Given the description of an element on the screen output the (x, y) to click on. 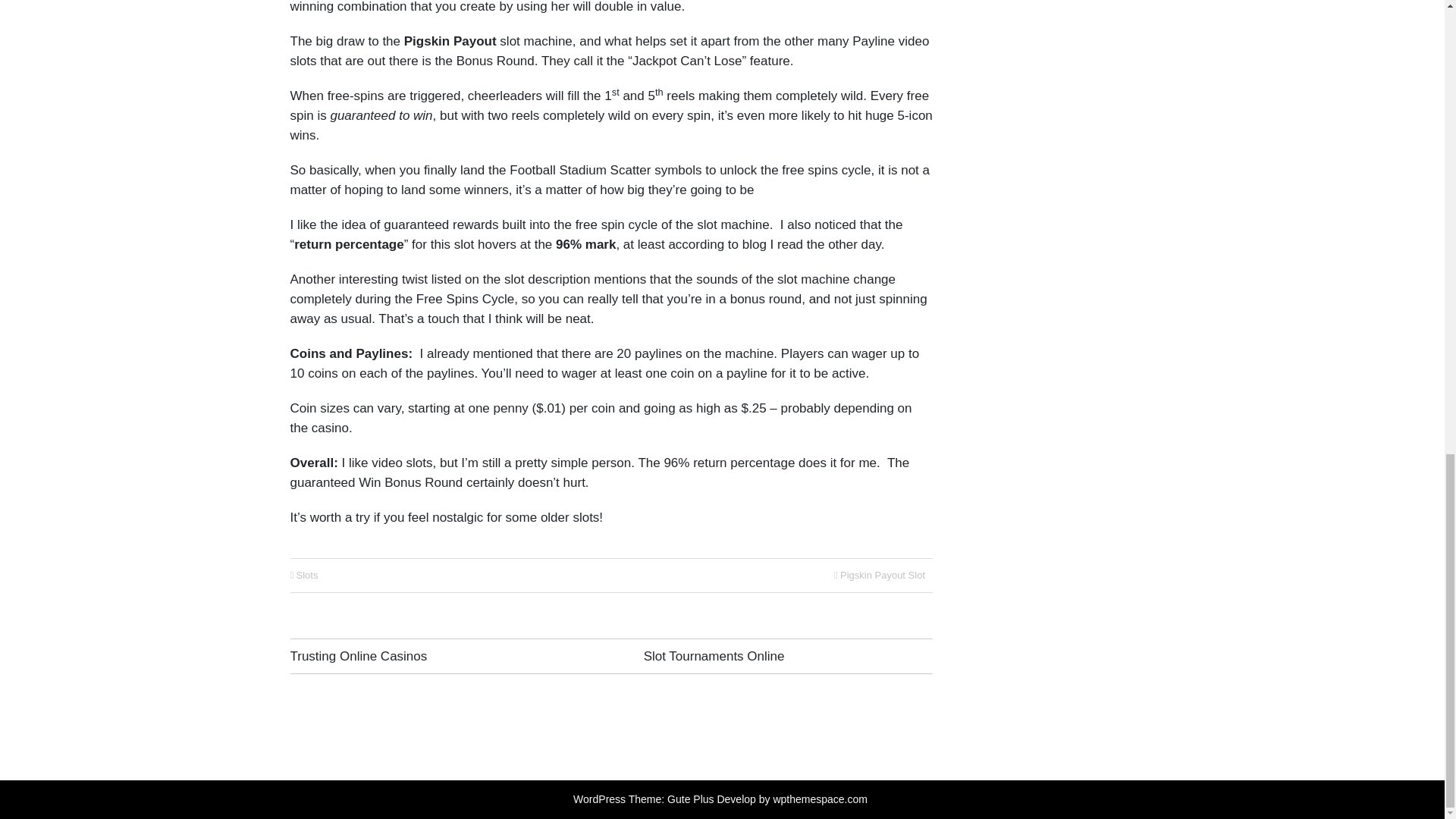
wpthemespace.com (820, 799)
Slots (306, 574)
Pigskin Payout Slot (882, 574)
Slot Tournaments Online (713, 656)
Trusting Online Casinos (357, 656)
